Given the description of an element on the screen output the (x, y) to click on. 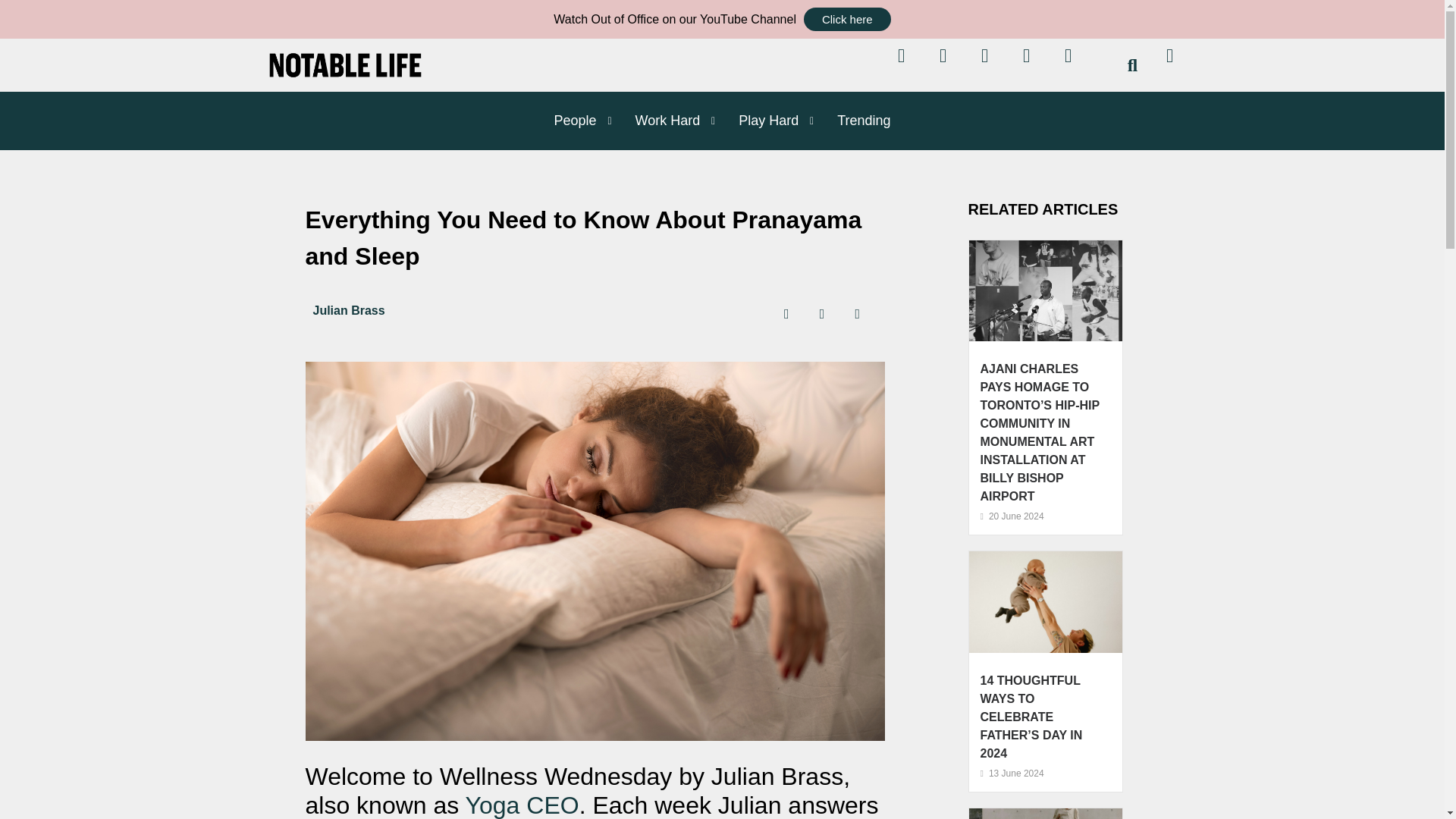
Trending (857, 120)
Play Hard (762, 120)
People (568, 120)
Work Hard (661, 120)
Search (1123, 64)
